Given the description of an element on the screen output the (x, y) to click on. 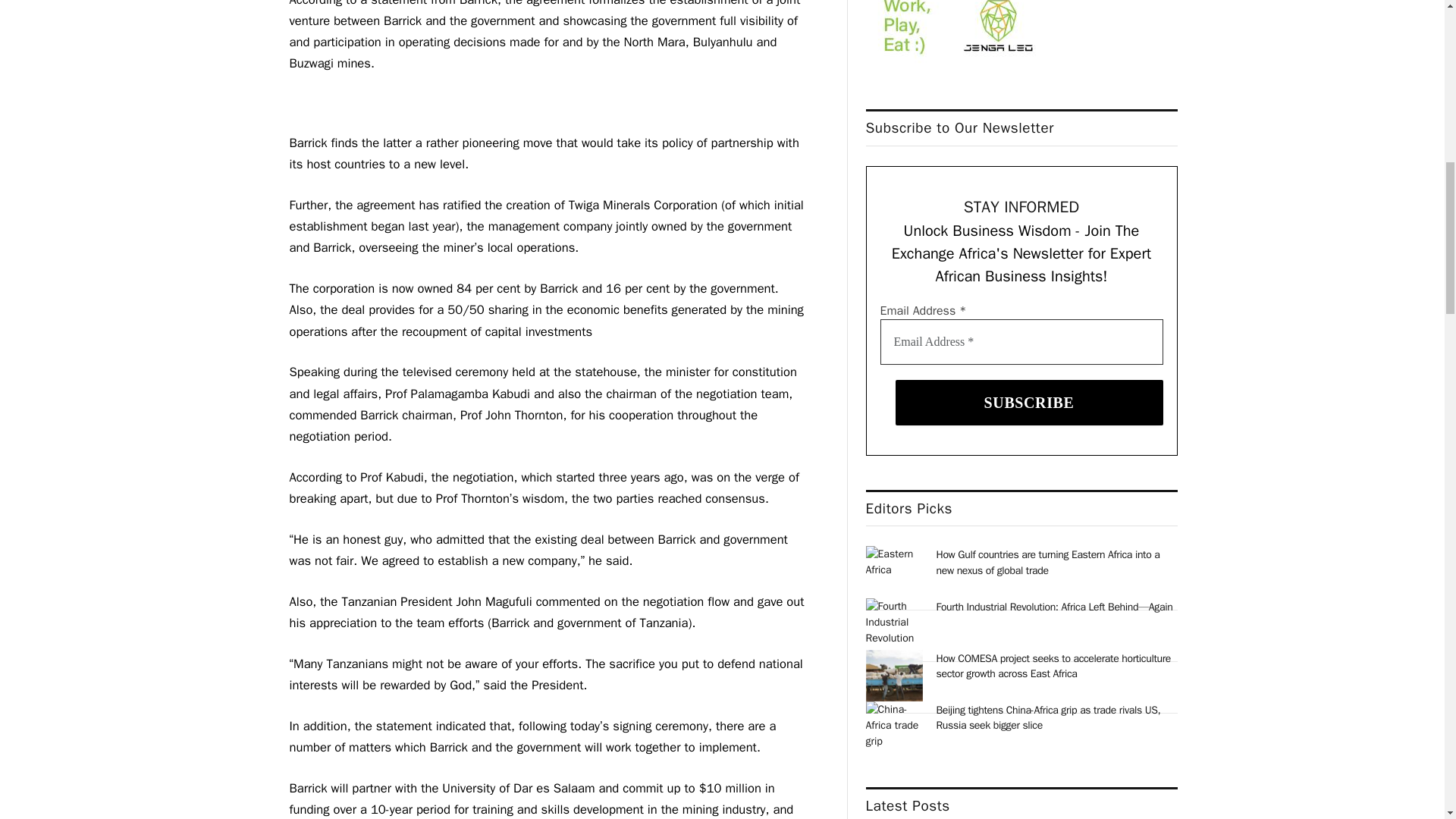
SUBSCRIBE (1029, 402)
